Given the description of an element on the screen output the (x, y) to click on. 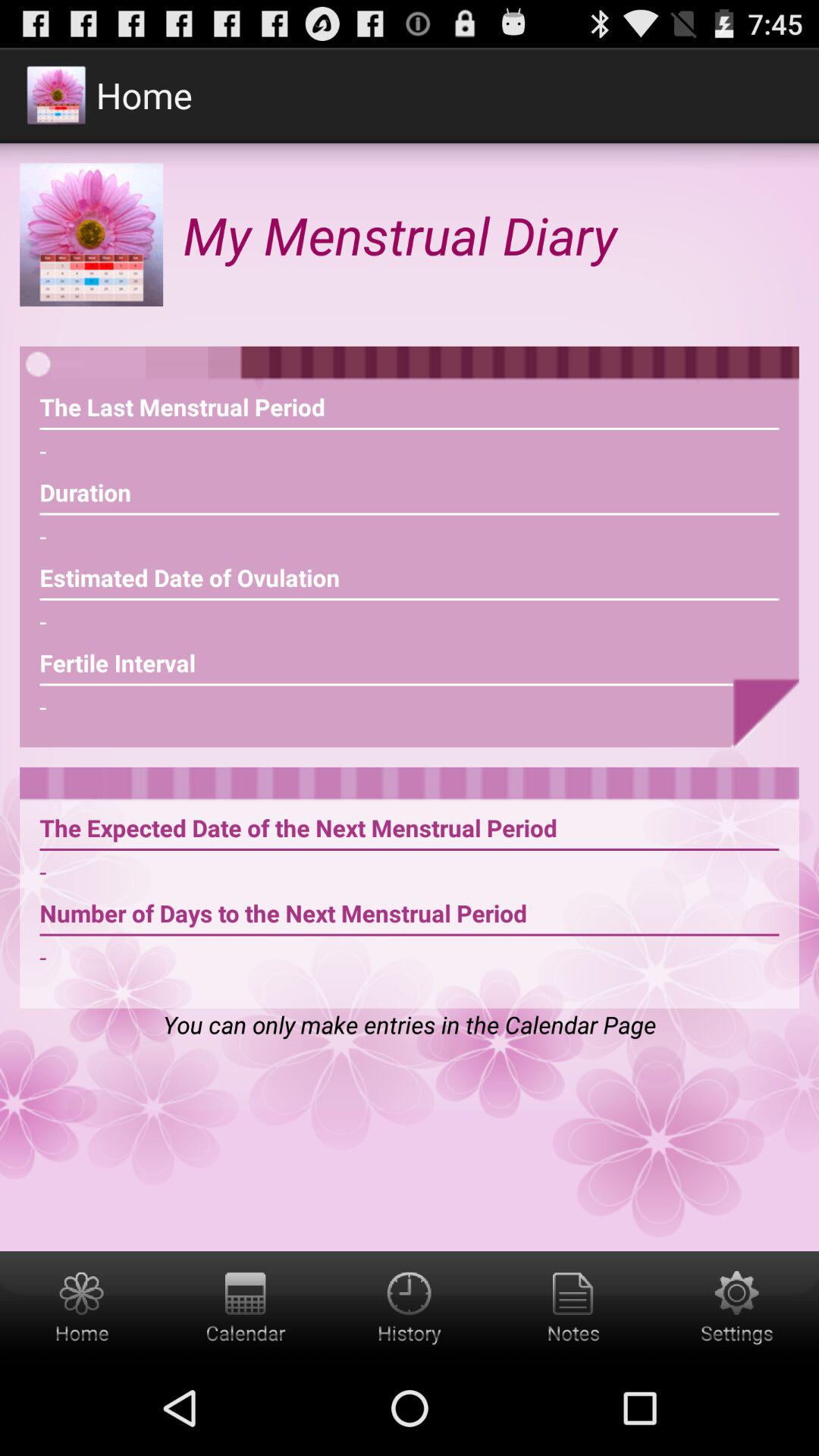
see the notes (573, 1305)
